Given the description of an element on the screen output the (x, y) to click on. 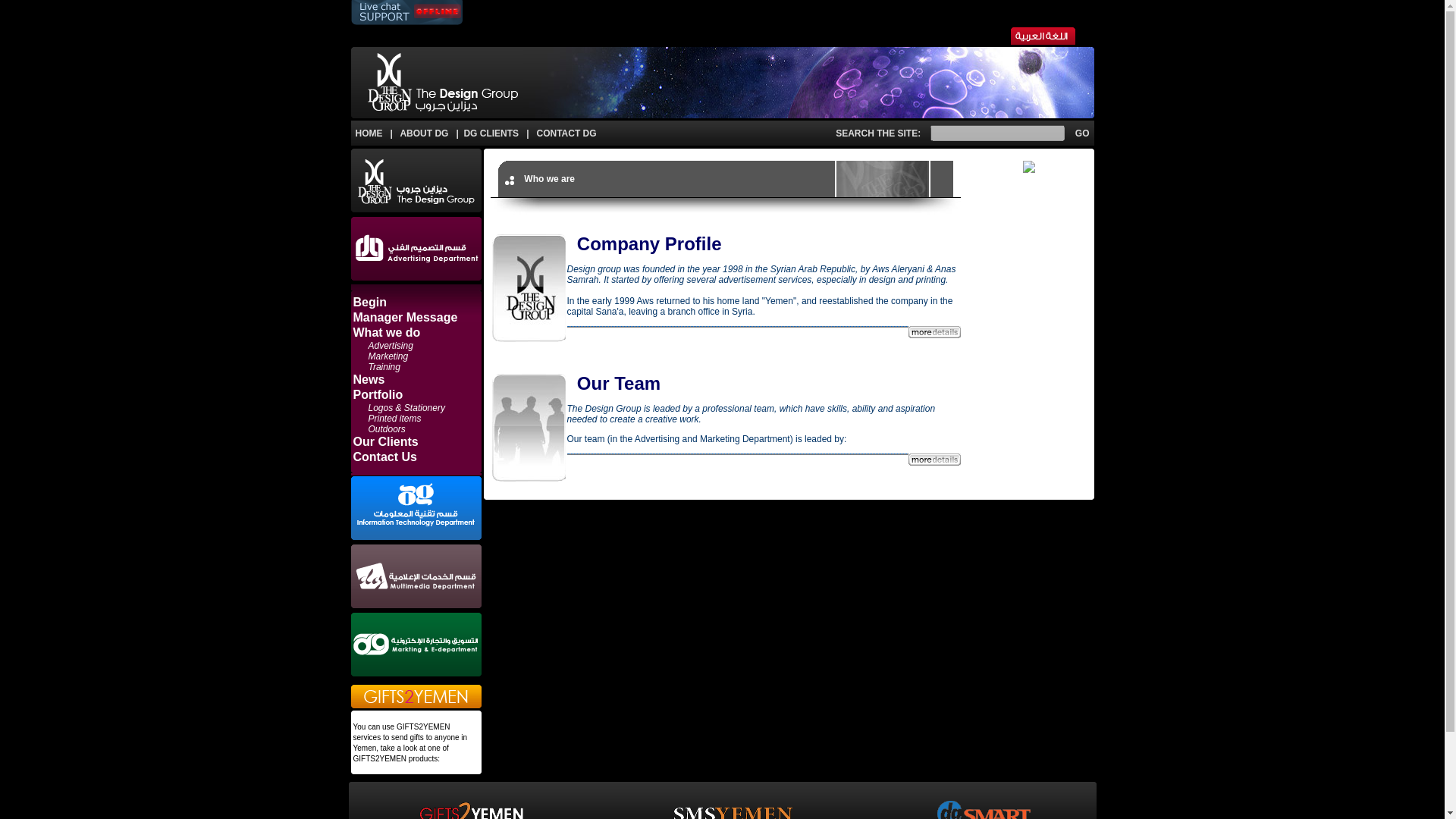
CONTACT DG (566, 132)
Outdoors (387, 429)
Begin (370, 301)
DG CLIENTS (490, 132)
Our Clients (386, 440)
Manager Message (405, 317)
ABOUT DG (423, 132)
Training (384, 366)
HOME (368, 132)
Marketing (388, 356)
